Given the description of an element on the screen output the (x, y) to click on. 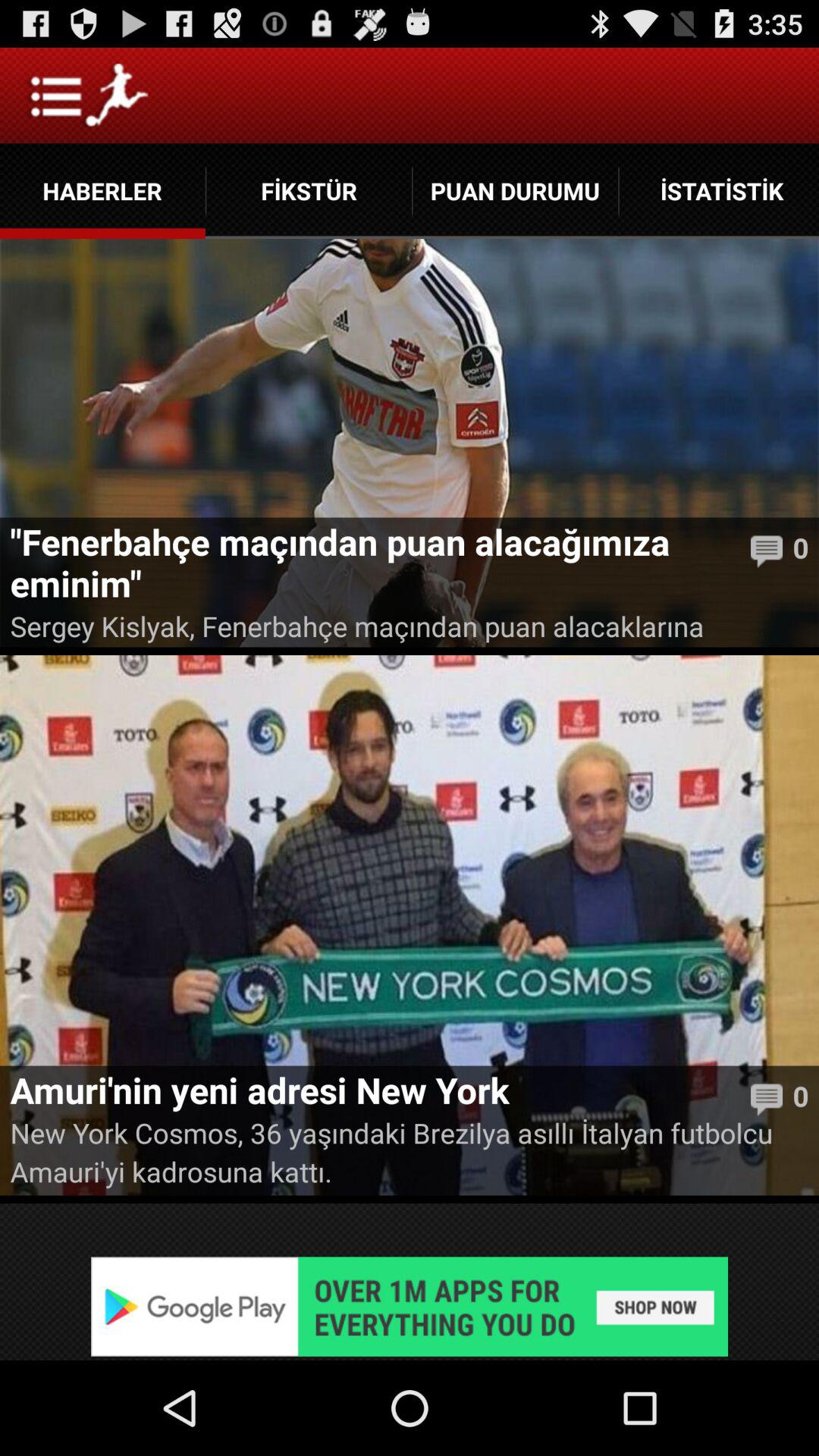
select the puan durumu icon (515, 190)
